Given the description of an element on the screen output the (x, y) to click on. 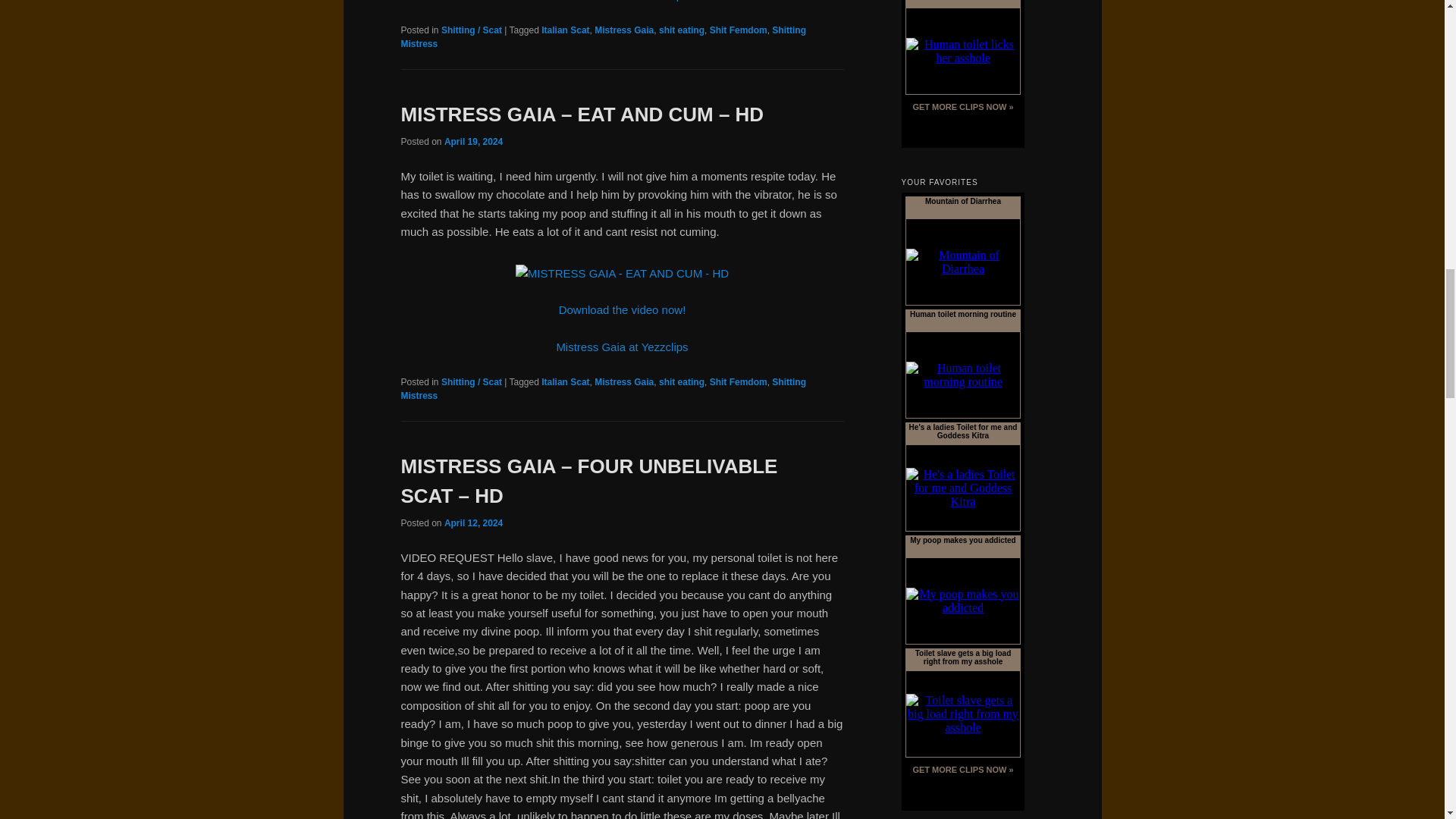
Mistress Gaia at Yezzclips (621, 0)
Italian Scat (565, 30)
4:51 pm (473, 141)
5:53 am (473, 522)
